Given the description of an element on the screen output the (x, y) to click on. 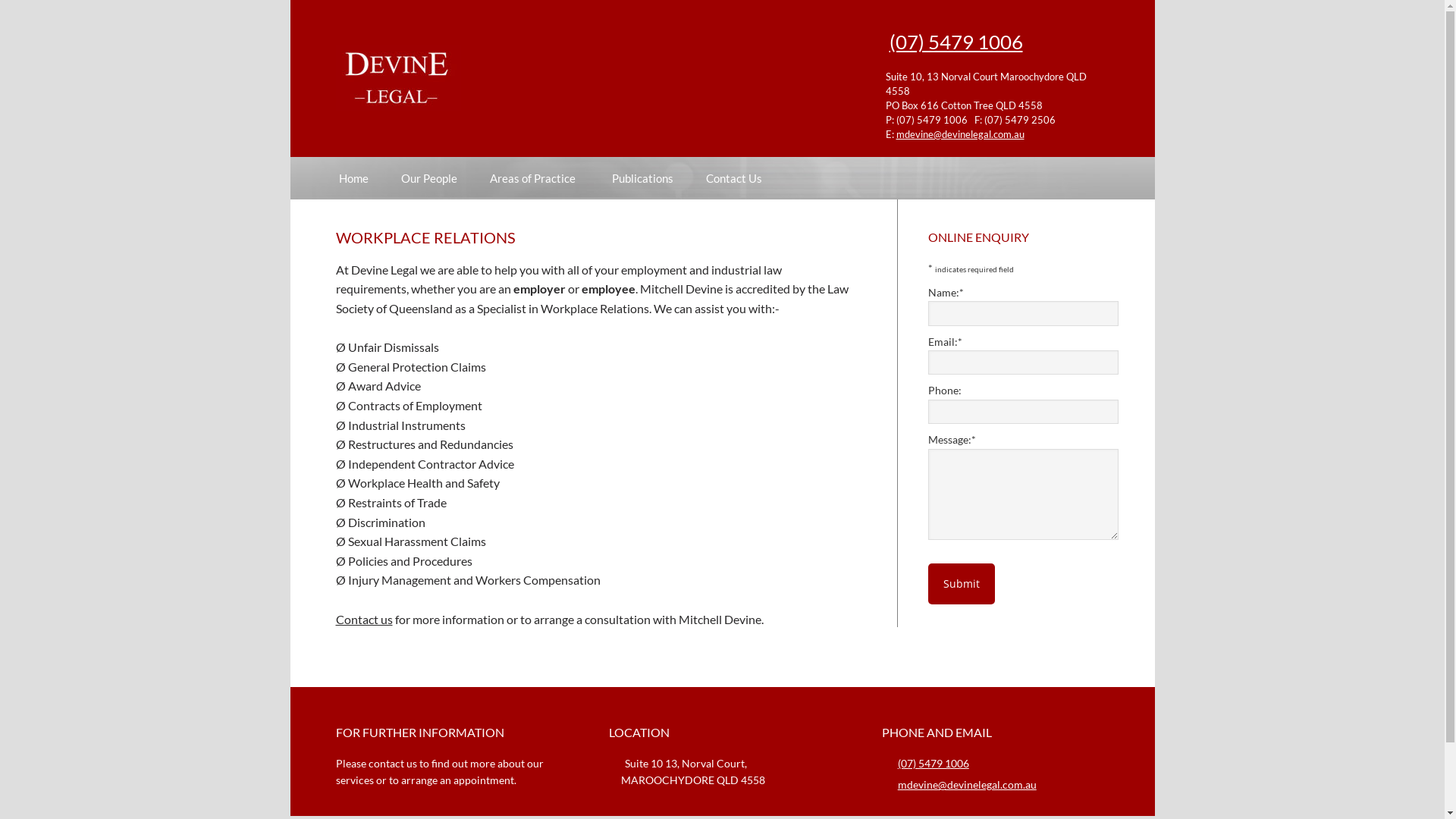
Devine Legal Element type: hover (464, 77)
Home Element type: text (352, 177)
Our People Element type: text (428, 177)
Contact Us Element type: text (733, 177)
Contact us Element type: text (363, 618)
Submit Element type: text (961, 583)
Skip to primary navigation Element type: text (289, 0)
mdevine@devinelegal.com.au Element type: text (960, 133)
mdevine@devinelegal.com.au Element type: text (966, 784)
Areas of Practice Element type: text (534, 177)
Publications Element type: text (641, 177)
(07) 5479 1006 Element type: text (955, 41)
(07) 5479 1006 Element type: text (933, 762)
